Given the description of an element on the screen output the (x, y) to click on. 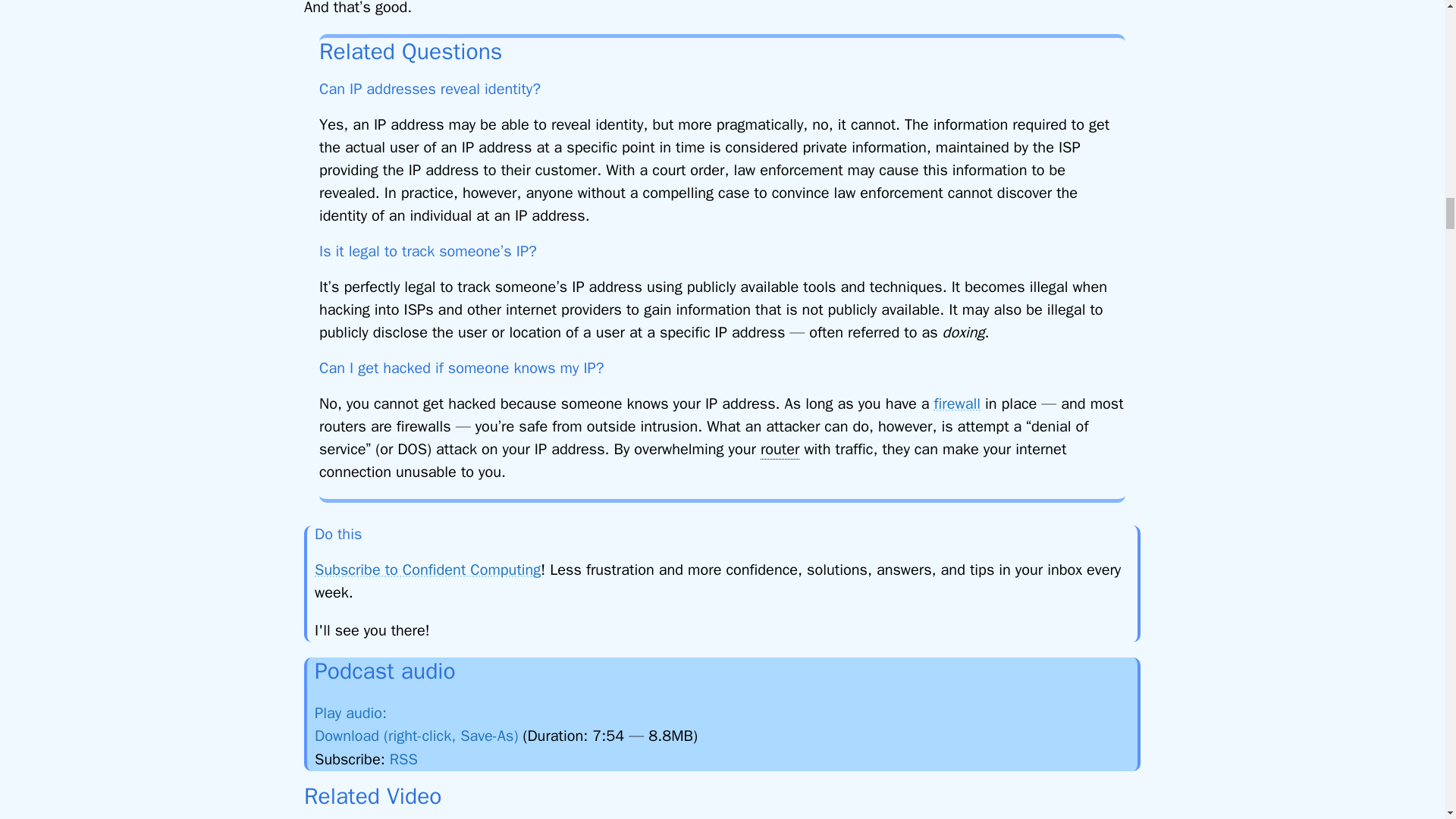
Play (400, 709)
Play (361, 712)
RSS (403, 759)
Subscribe to Confident Computing (427, 569)
router (779, 449)
Do I Need a Firewall for My Home Network? (956, 403)
firewall (956, 403)
Subscribe via RSS (403, 759)
